Given the description of an element on the screen output the (x, y) to click on. 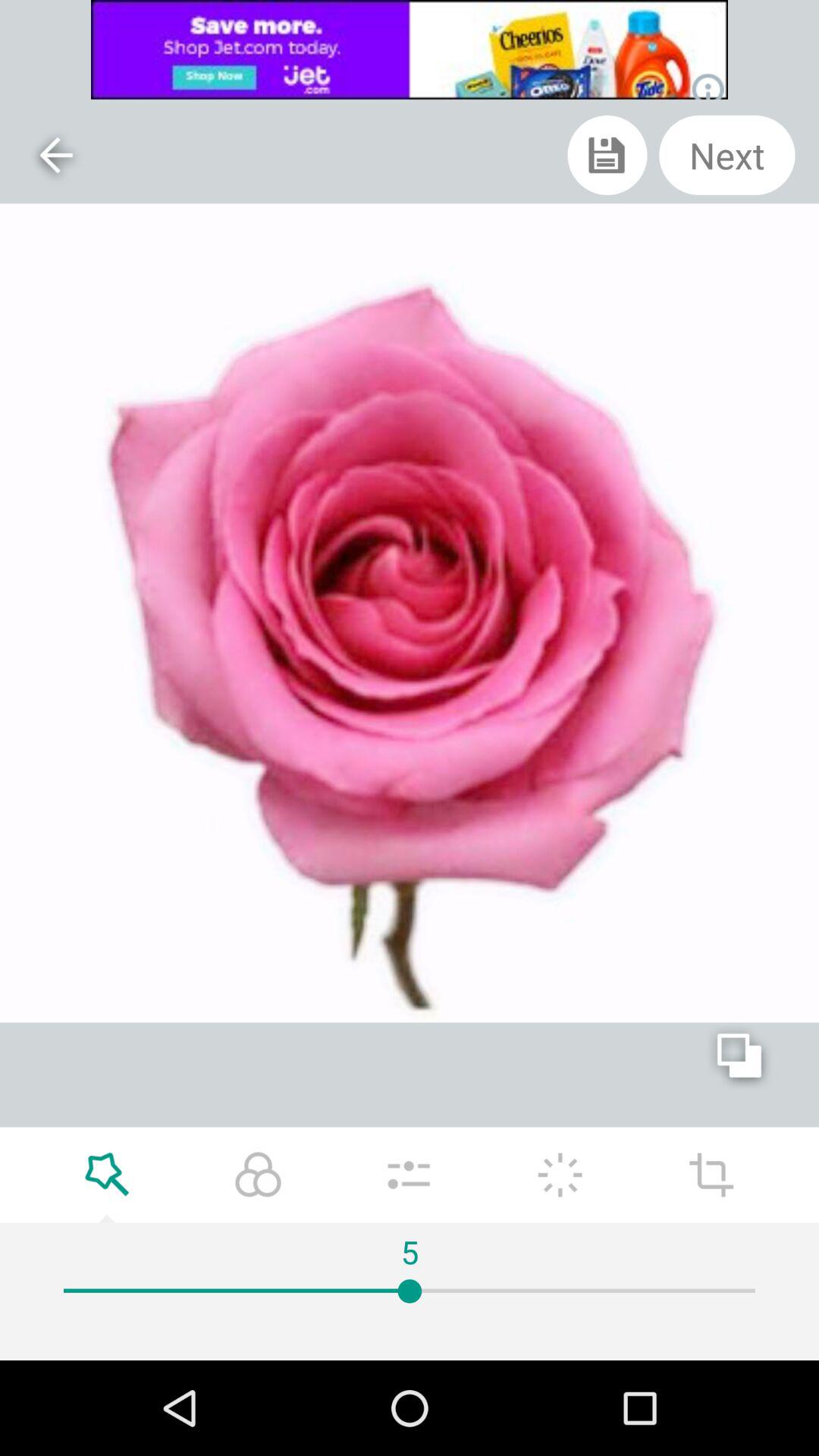
editing options (711, 1174)
